Given the description of an element on the screen output the (x, y) to click on. 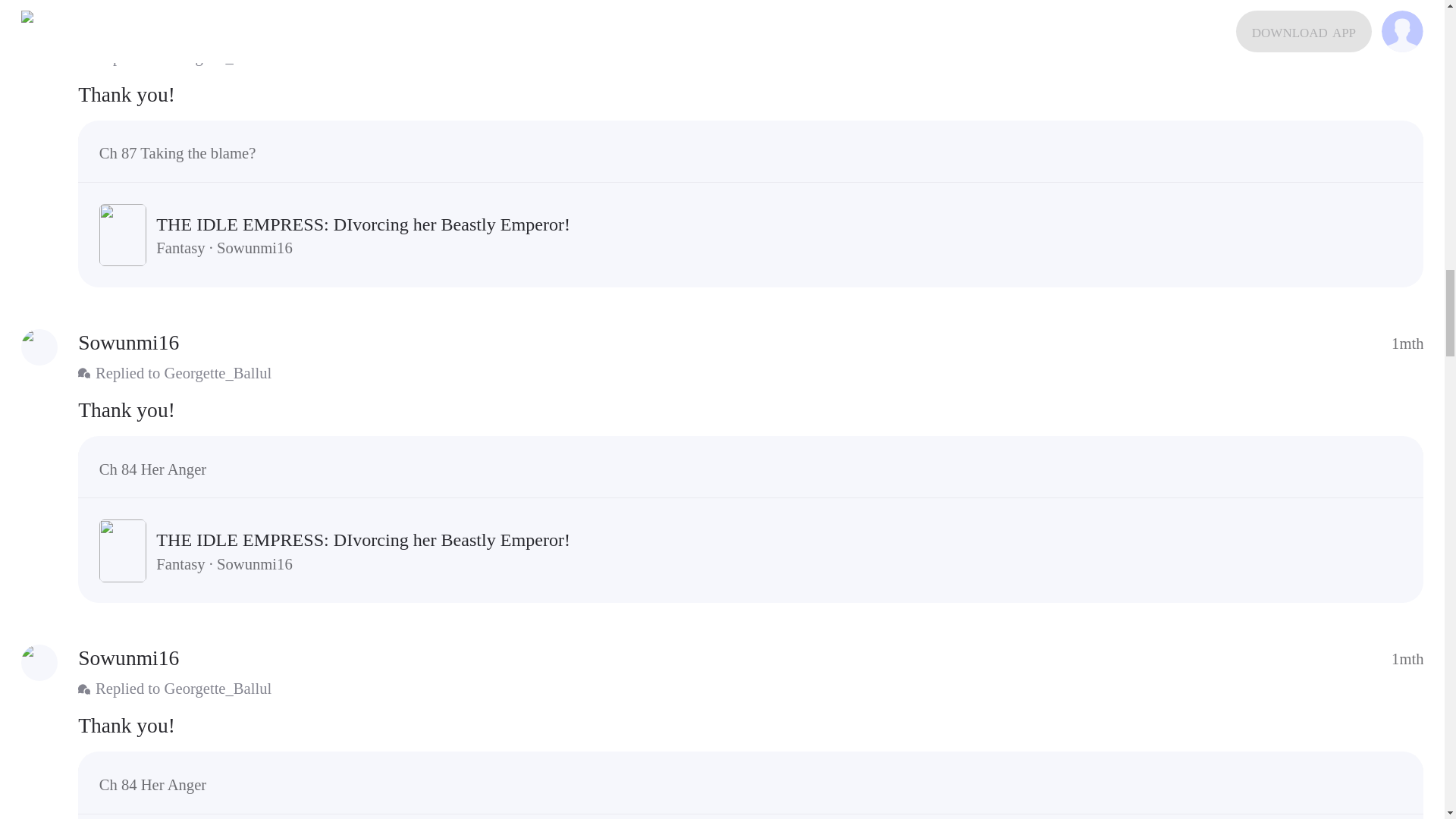
reply (750, 93)
reply (750, 409)
reply (750, 725)
